Given the description of an element on the screen output the (x, y) to click on. 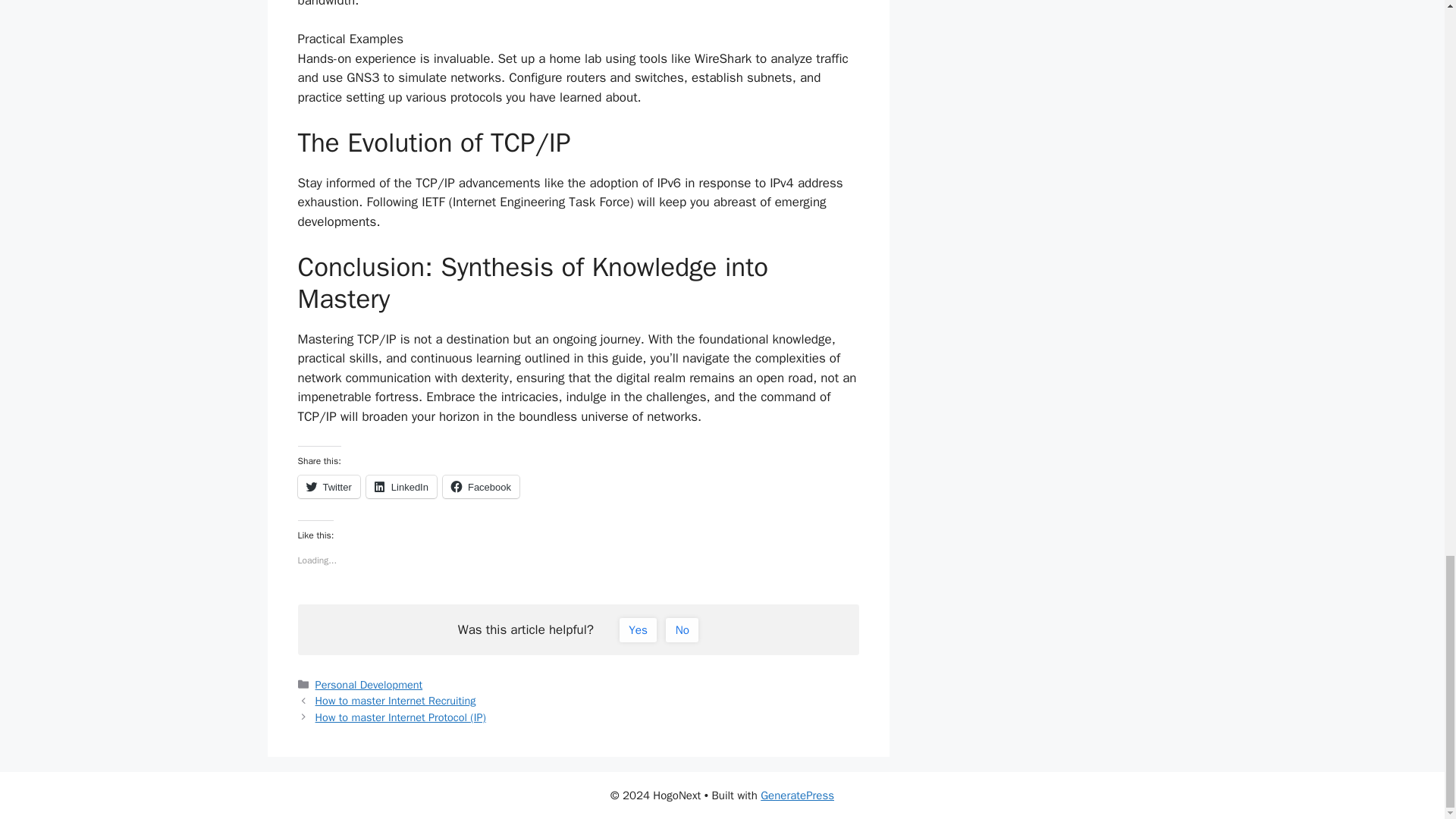
Twitter (328, 486)
Facebook (480, 486)
Click to share on Twitter (328, 486)
Click to share on LinkedIn (401, 486)
LinkedIn (401, 486)
Click to share on Facebook (480, 486)
How to master Internet Recruiting (395, 700)
Personal Development (369, 684)
